Given the description of an element on the screen output the (x, y) to click on. 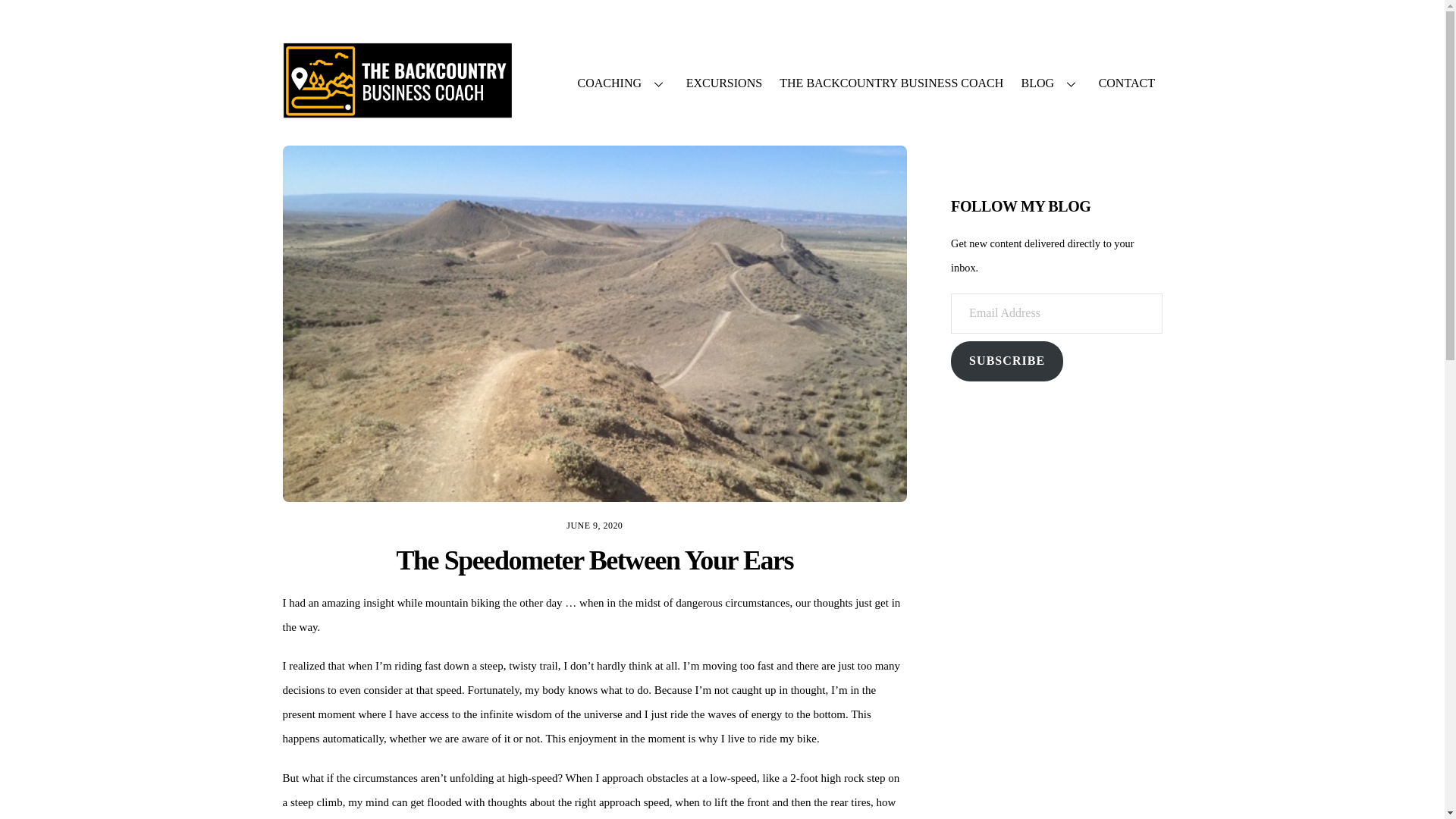
The Speedometer Between Your Ears (594, 560)
THE BACKCOUNTRY BUSINESS COACH (891, 82)
CONTACT (1125, 82)
BLOG (1050, 82)
COACHING (622, 82)
The Logos Group (397, 111)
EXCURSIONS (724, 82)
SUBSCRIBE (1006, 361)
